Given the description of an element on the screen output the (x, y) to click on. 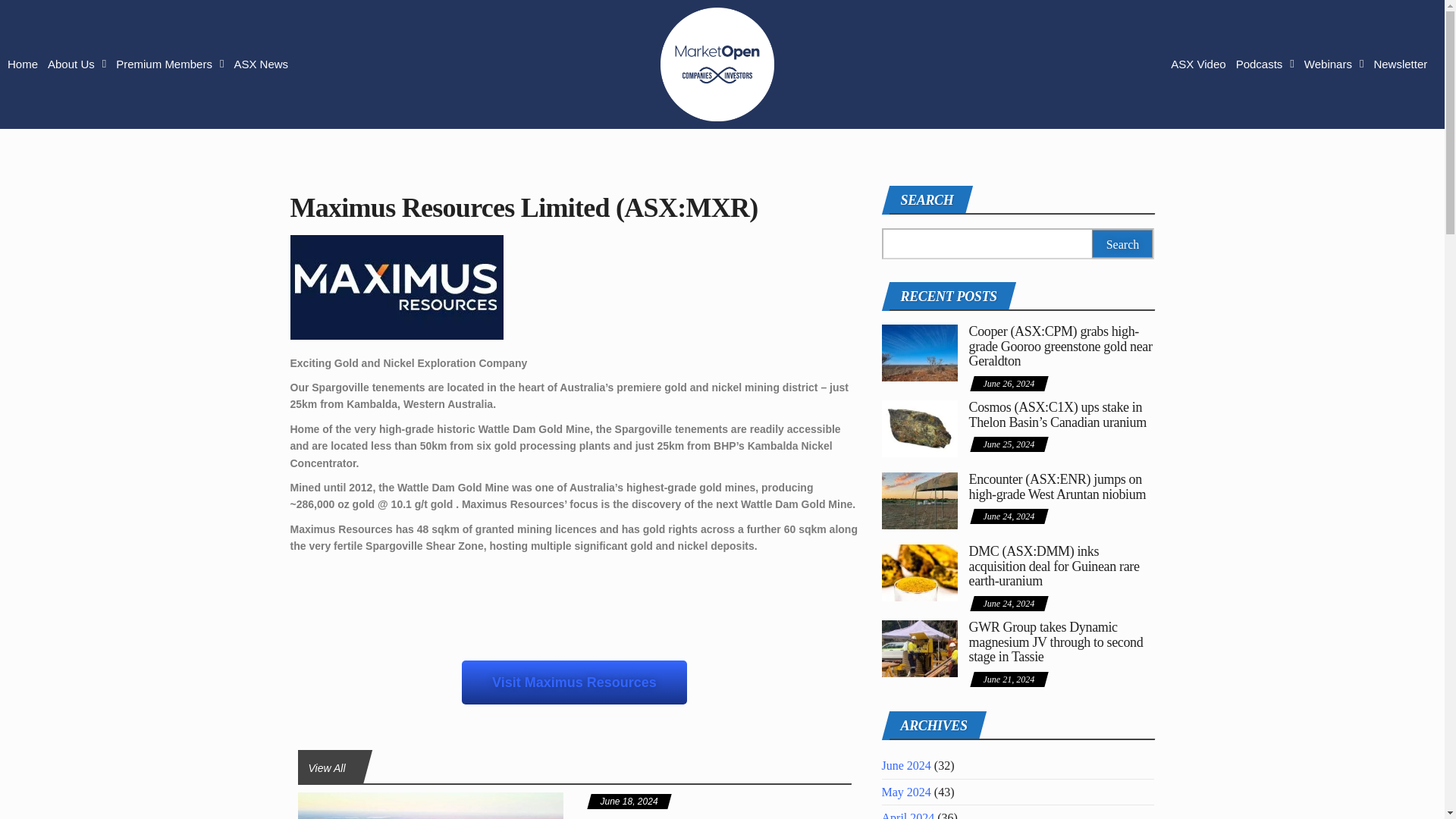
Premium Members (170, 64)
Home (22, 64)
ASX News (260, 64)
About Us (77, 64)
Search (1122, 244)
